Given the description of an element on the screen output the (x, y) to click on. 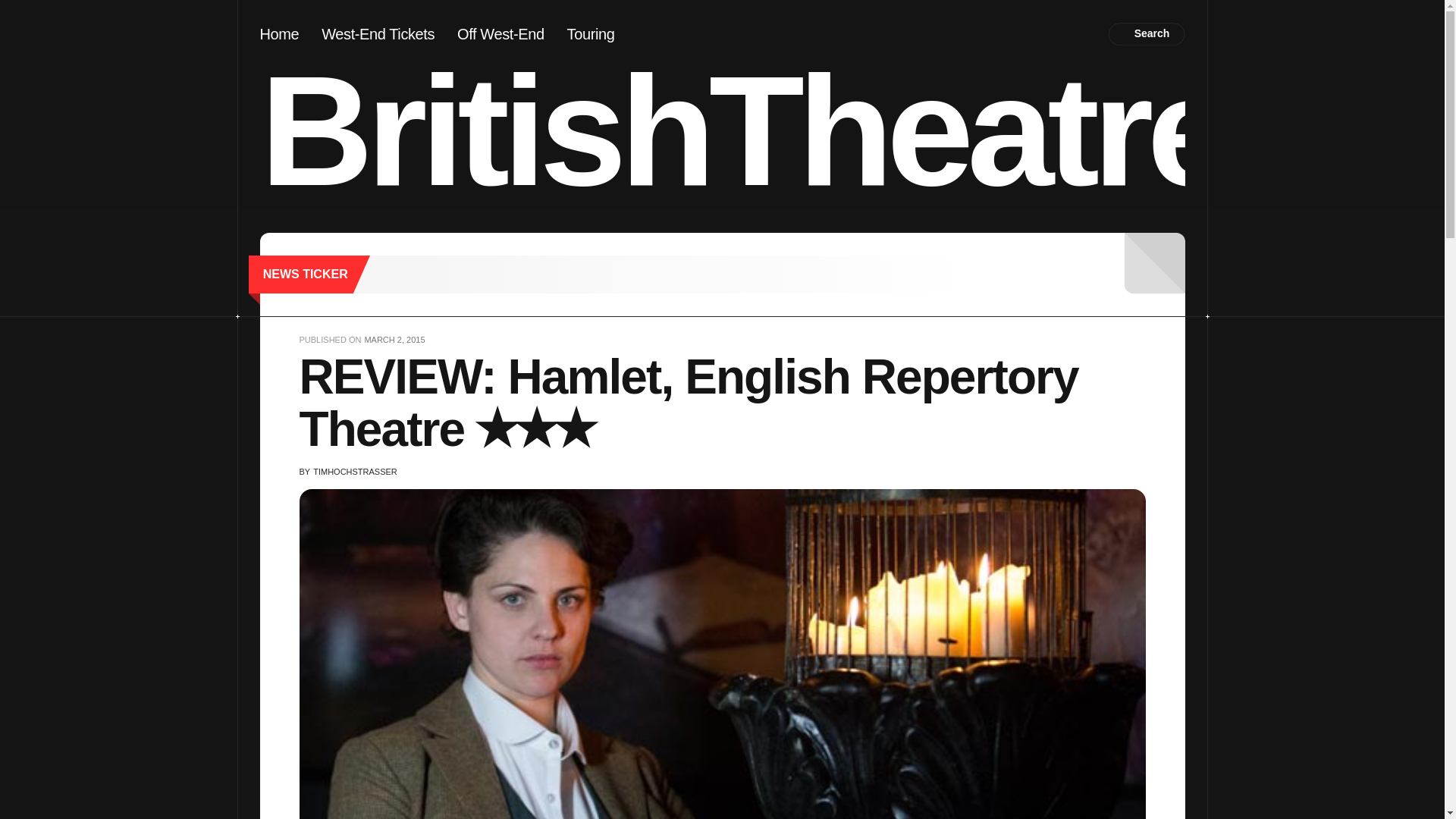
West-End Tickets (377, 33)
Home (278, 33)
Touring (590, 33)
Off West-End (500, 33)
